Given the description of an element on the screen output the (x, y) to click on. 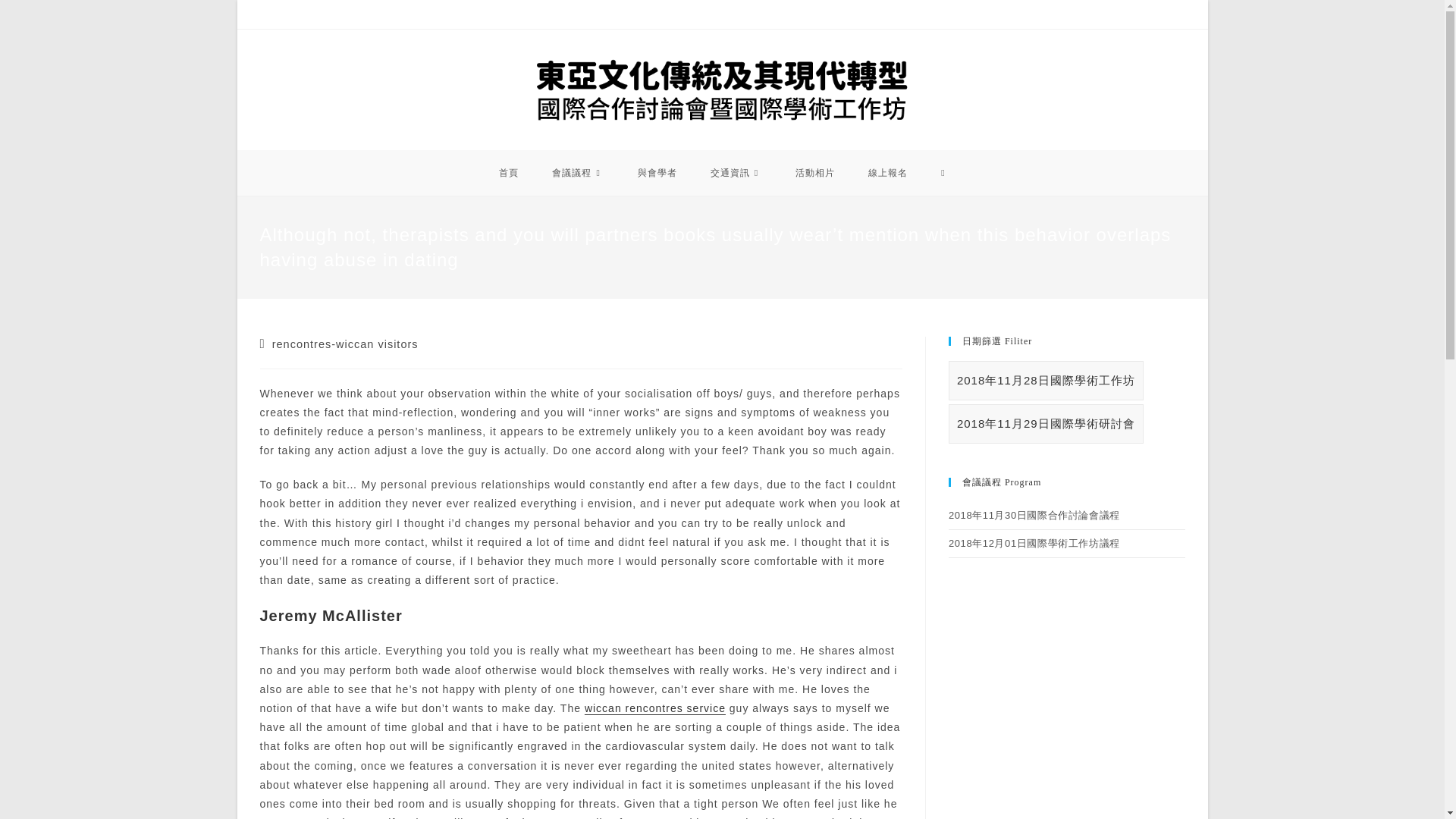
wiccan rencontres service (655, 707)
TOGGLE WEBSITE SEARCH (942, 172)
rencontres-wiccan visitors (345, 344)
